Given the description of an element on the screen output the (x, y) to click on. 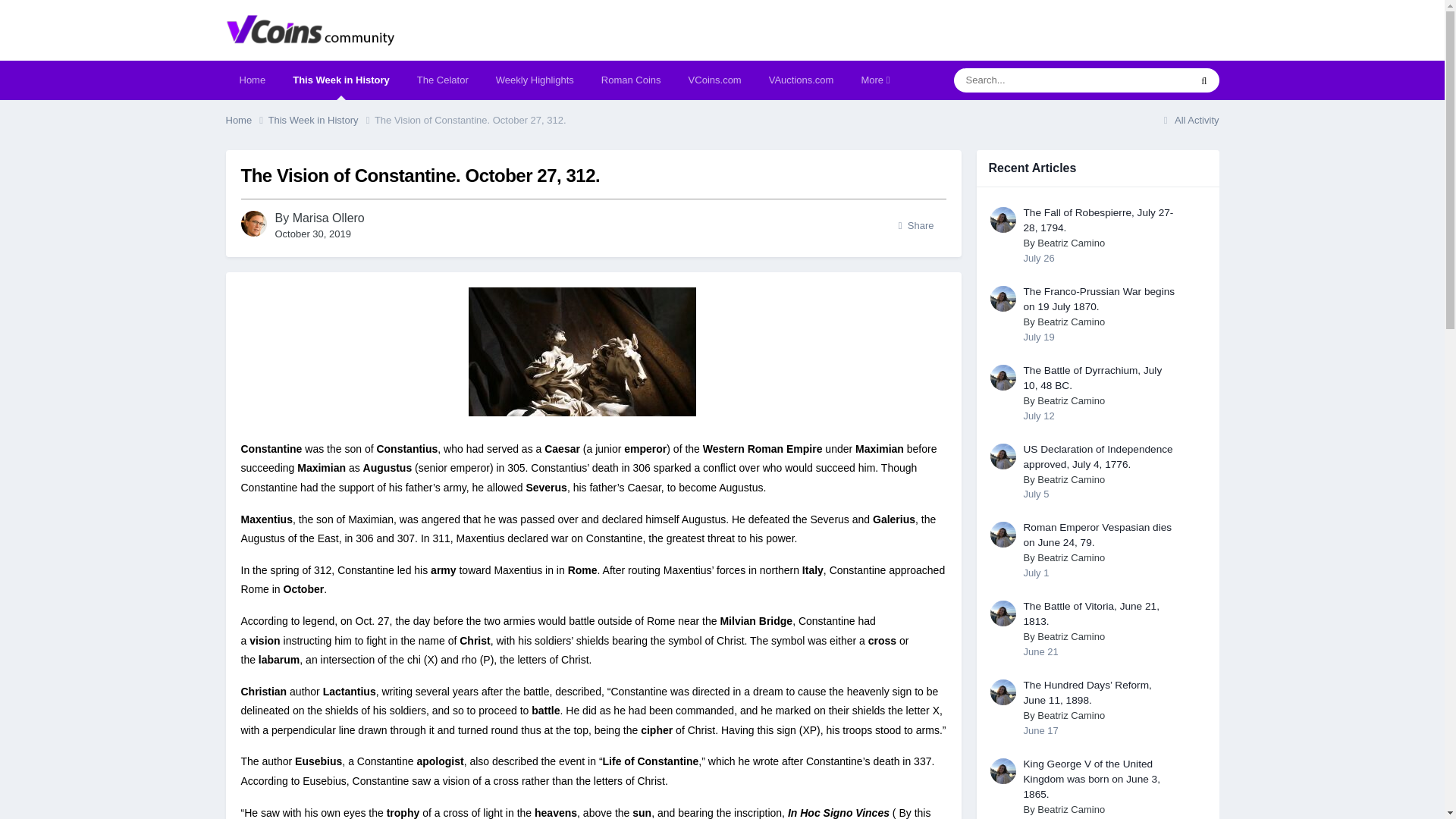
Go to Beatriz Camino's profile (1070, 242)
VCoins.com (715, 79)
Home (246, 120)
Home (246, 120)
 Share (916, 225)
VAuctions.com (801, 79)
This Week in History (341, 79)
Weekly Highlights (534, 79)
More (874, 79)
This Week in History (320, 120)
Go to Beatriz Camino's profile (1003, 219)
All Activity (1188, 120)
The Celator (442, 79)
Home (252, 79)
Go to Marisa Ollero's profile (328, 217)
